Given the description of an element on the screen output the (x, y) to click on. 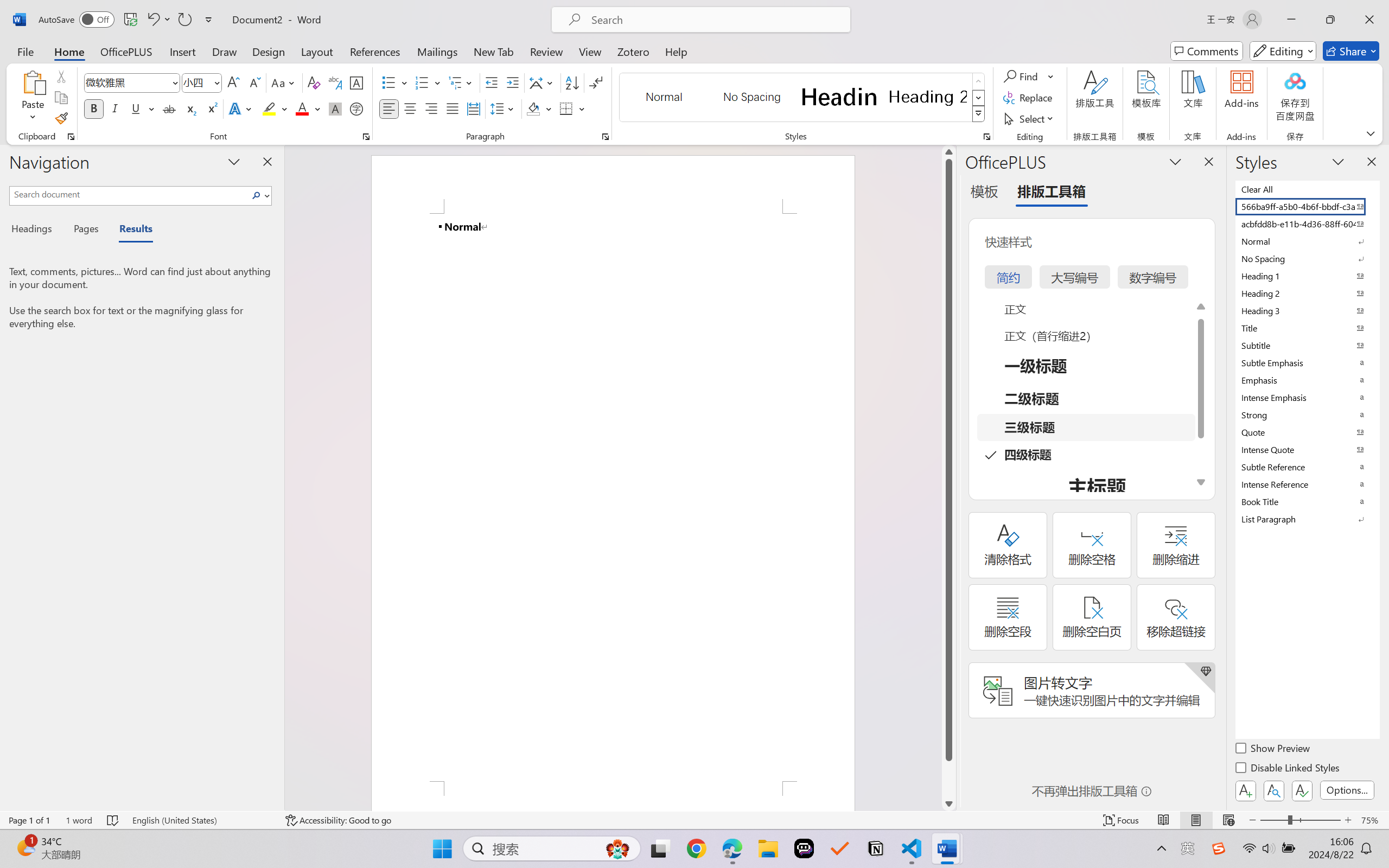
Review (546, 51)
Intense Reference (1306, 484)
Undo <ApplyStyleToDoc>b__0 (158, 19)
Results (130, 229)
Center (409, 108)
Underline (142, 108)
Read Mode (1163, 819)
Pages (85, 229)
Shading RGB(0, 0, 0) (533, 108)
Show/Hide Editing Marks (595, 82)
Font Size (201, 82)
Task Pane Options (1175, 161)
Language English (United States) (201, 819)
